Given the description of an element on the screen output the (x, y) to click on. 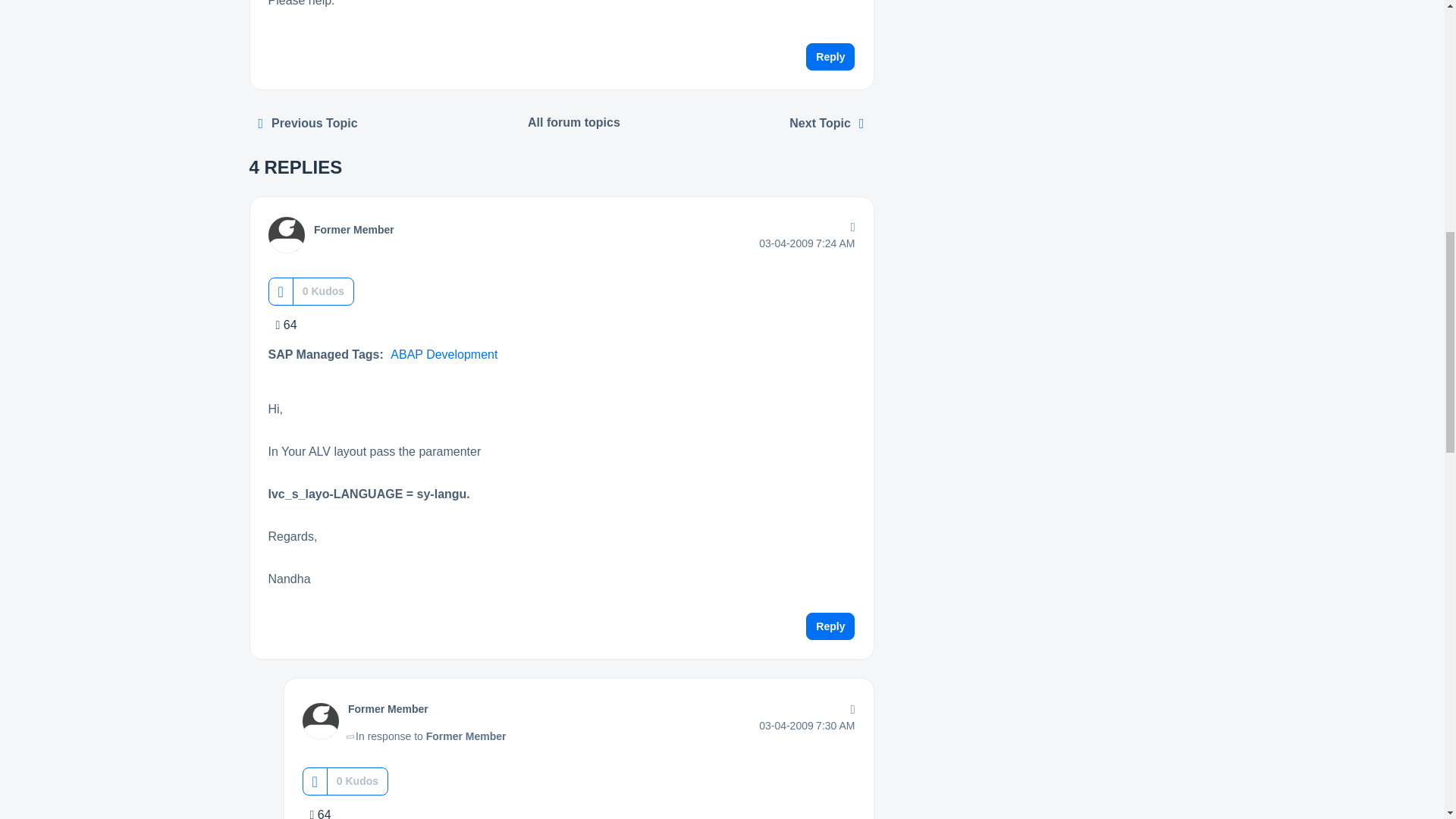
Next Topic (825, 123)
All forum topics (574, 122)
Application Development Discussions (574, 122)
Reply (830, 625)
refresh (825, 123)
ABAP Development (443, 354)
In response to Former Member (426, 736)
Controlling user Administration (308, 123)
Previous Topic (308, 123)
Reply (830, 56)
